Given the description of an element on the screen output the (x, y) to click on. 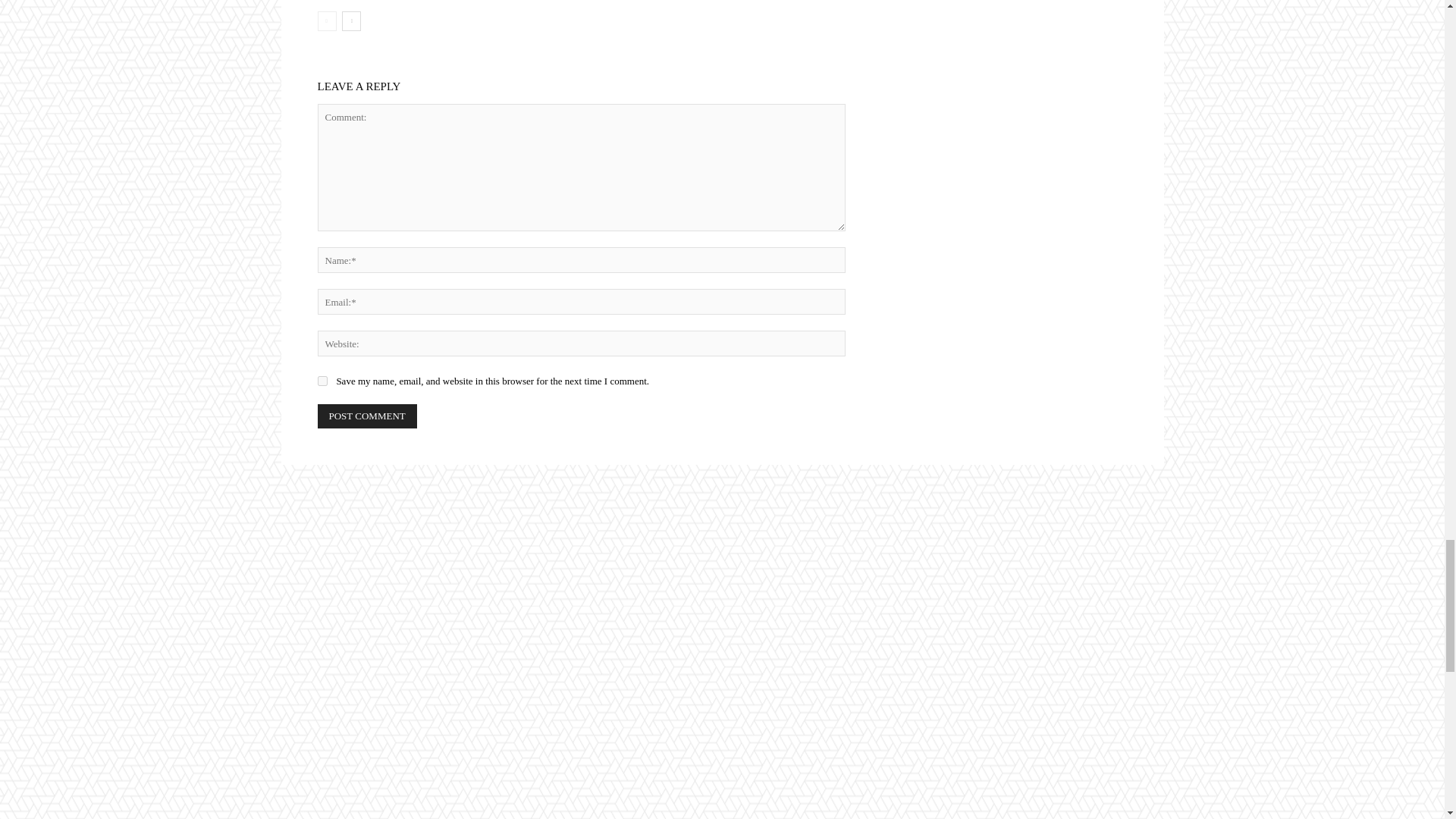
Post Comment (366, 416)
yes (321, 380)
